Given the description of an element on the screen output the (x, y) to click on. 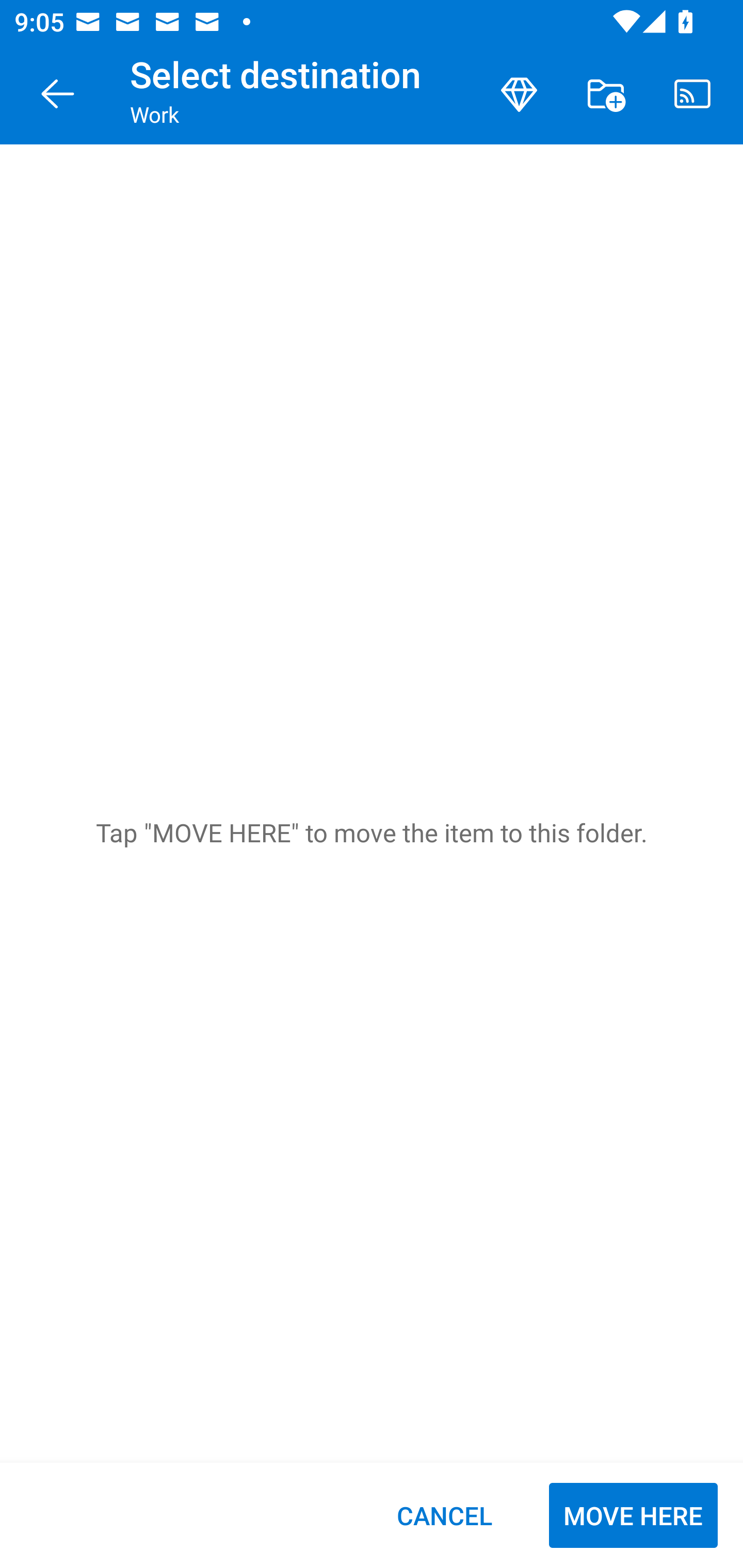
Navigate Up (57, 93)
Cast. Disconnected (692, 93)
Premium button (518, 93)
More actions button (605, 93)
CANCEL (443, 1515)
MOVE HERE (633, 1515)
